Given the description of an element on the screen output the (x, y) to click on. 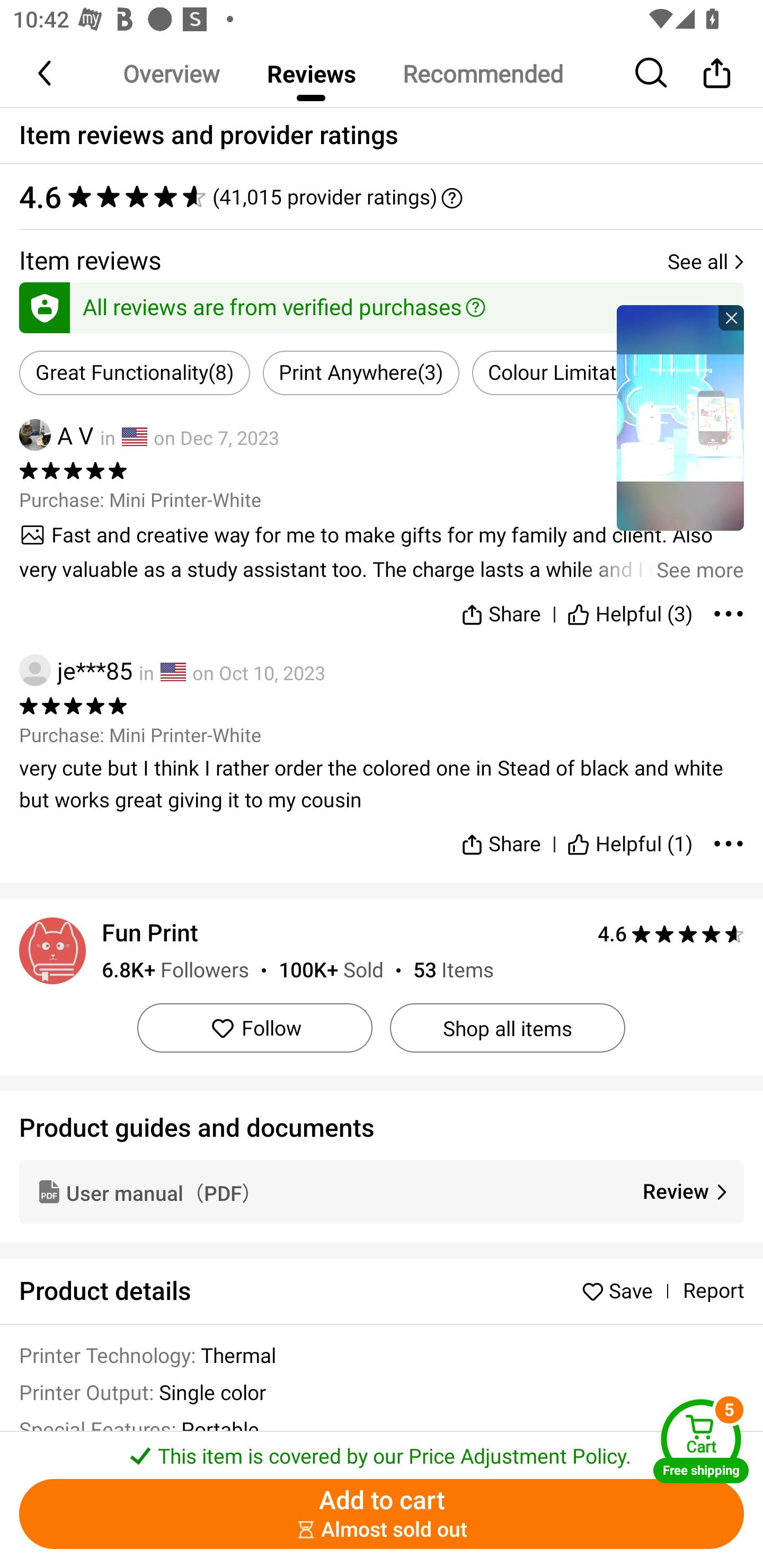
Overview (171, 72)
Reviews (311, 72)
Recommended (482, 72)
Back (46, 72)
Share (716, 72)
4.6 ‪(41,015 provider ratings) (381, 196)
All reviews are from verified purchases  (381, 303)
tronplayer_view (680, 417)
Great Functionality(8) (134, 373)
Print Anywhere(3) (360, 373)
Colour Limitations(2) (584, 373)
A V (56, 434)
See more (381, 551)
  Share (500, 610)
  Helpful (3) (629, 610)
je***85 (75, 669)
  Share (500, 836)
  Helpful (1) (629, 836)
  Follow (254, 1027)
Shop all items (506, 1027)
User manual（PDF） Review (381, 1191)
Report (712, 1291)
 Save (621, 1290)
Cart Free shipping Cart (701, 1440)
Add to cart ￼￼Almost sold out (381, 1513)
